Given the description of an element on the screen output the (x, y) to click on. 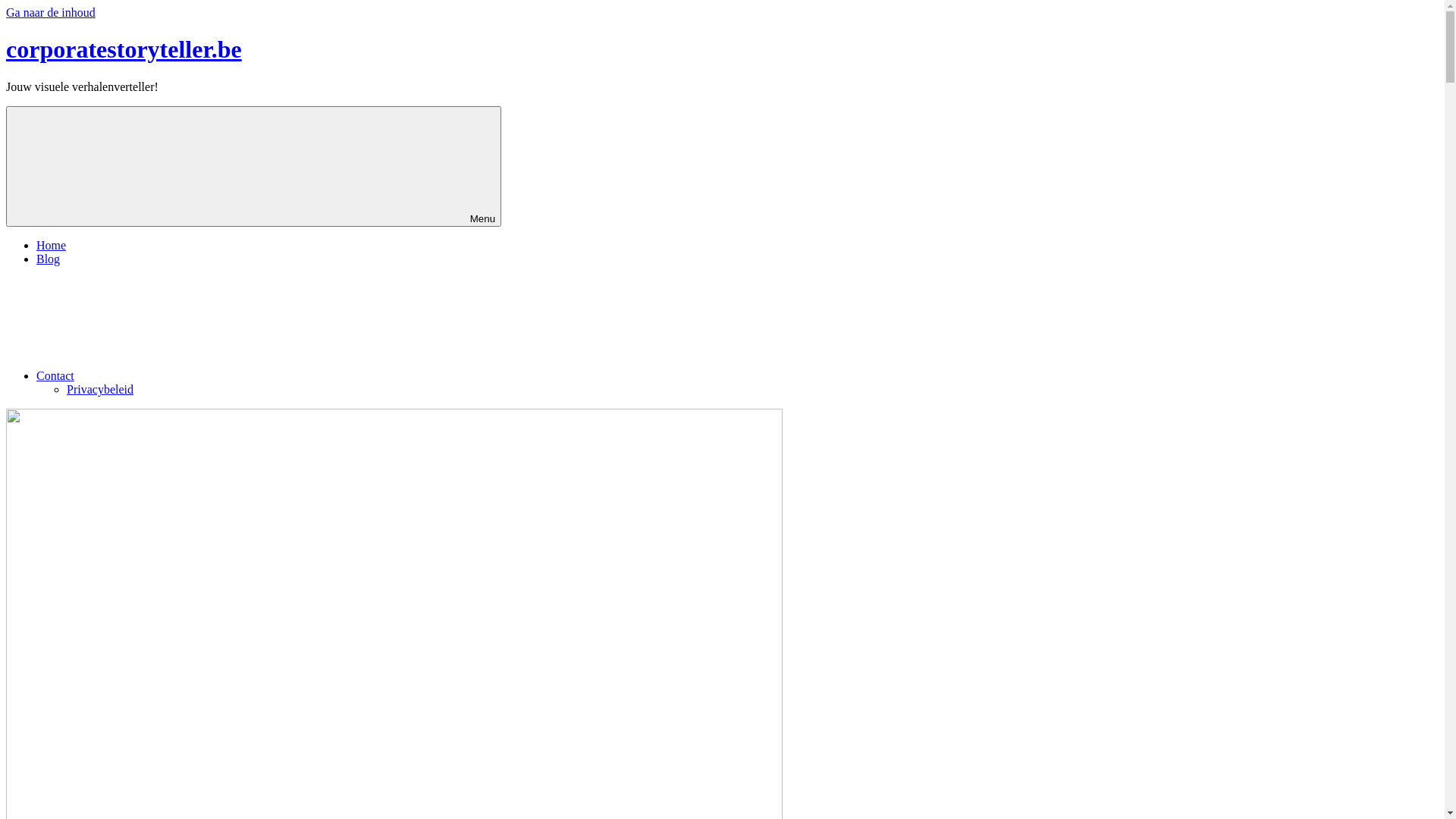
Contact Element type: text (168, 375)
Home Element type: text (50, 244)
Ga naar de inhoud Element type: text (50, 12)
Menu Element type: text (253, 166)
Blog Element type: text (47, 258)
corporatestoryteller.be Element type: text (123, 48)
Privacybeleid Element type: text (99, 388)
